Given the description of an element on the screen output the (x, y) to click on. 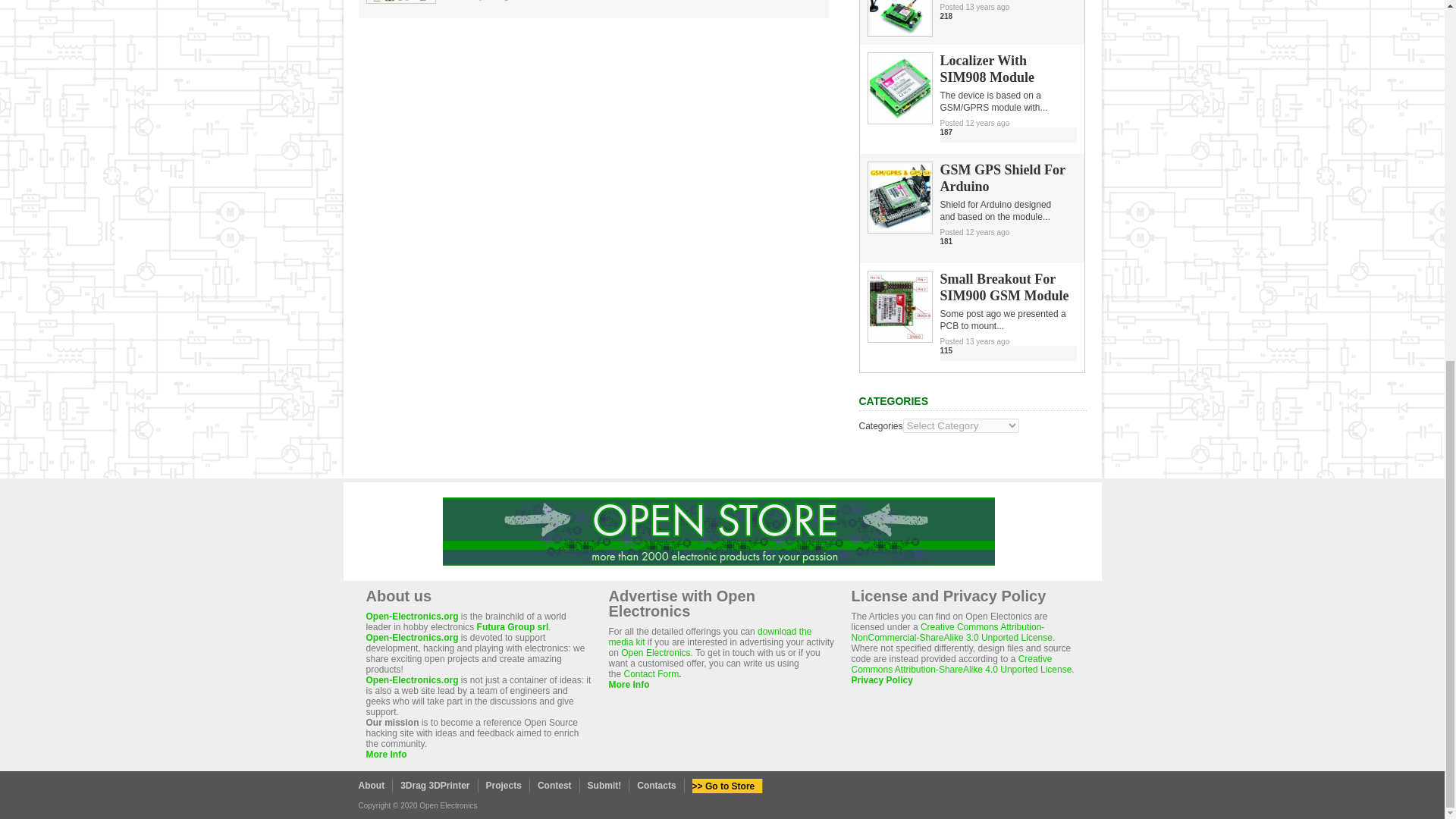
GSM GPS shield for Arduino (899, 227)
Localizer with SIM908 module (899, 118)
Small Breakout for SIM900 GSM Module (899, 337)
Arduino GSM shield (899, 31)
